Given the description of an element on the screen output the (x, y) to click on. 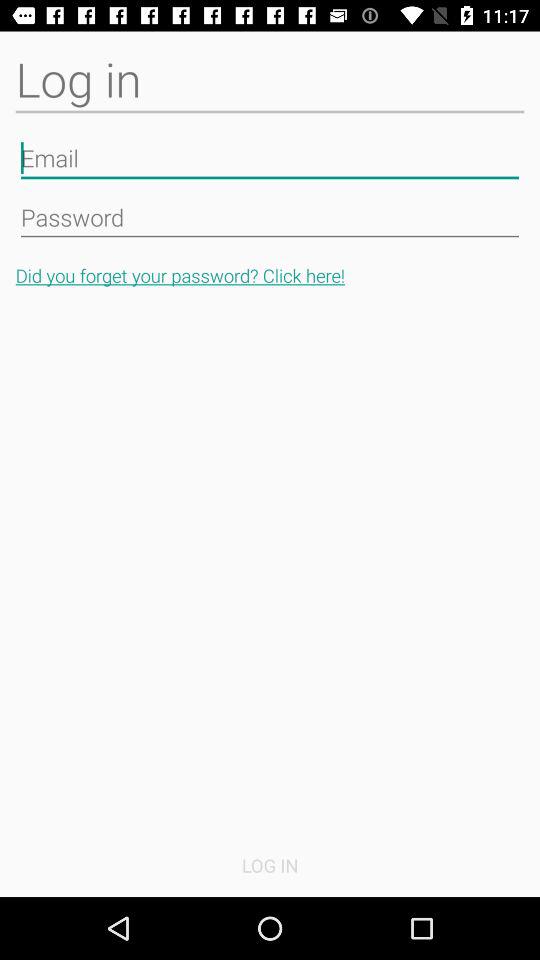
flip to the did you forget (269, 275)
